Given the description of an element on the screen output the (x, y) to click on. 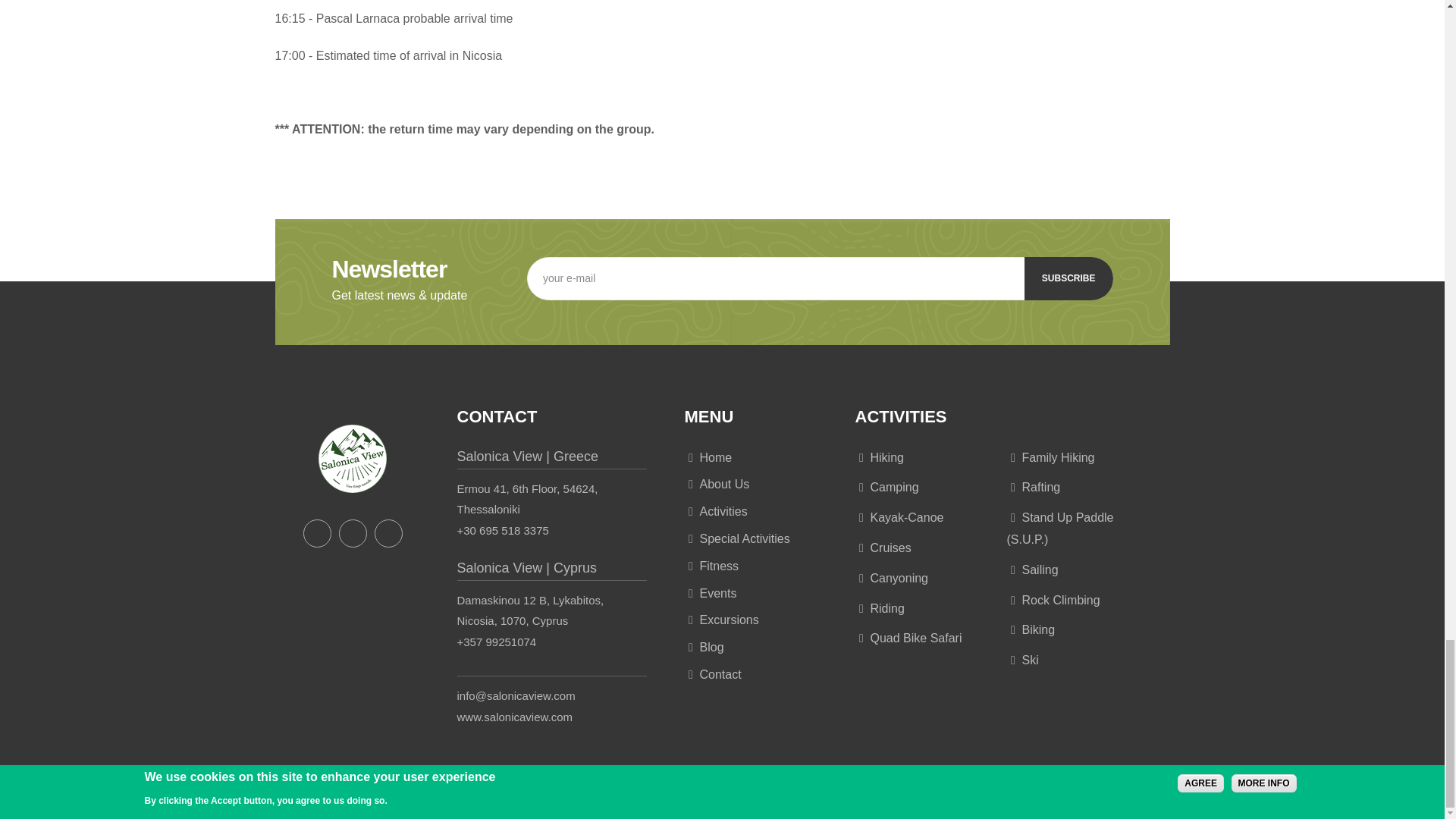
Subscribe (1069, 278)
